Given the description of an element on the screen output the (x, y) to click on. 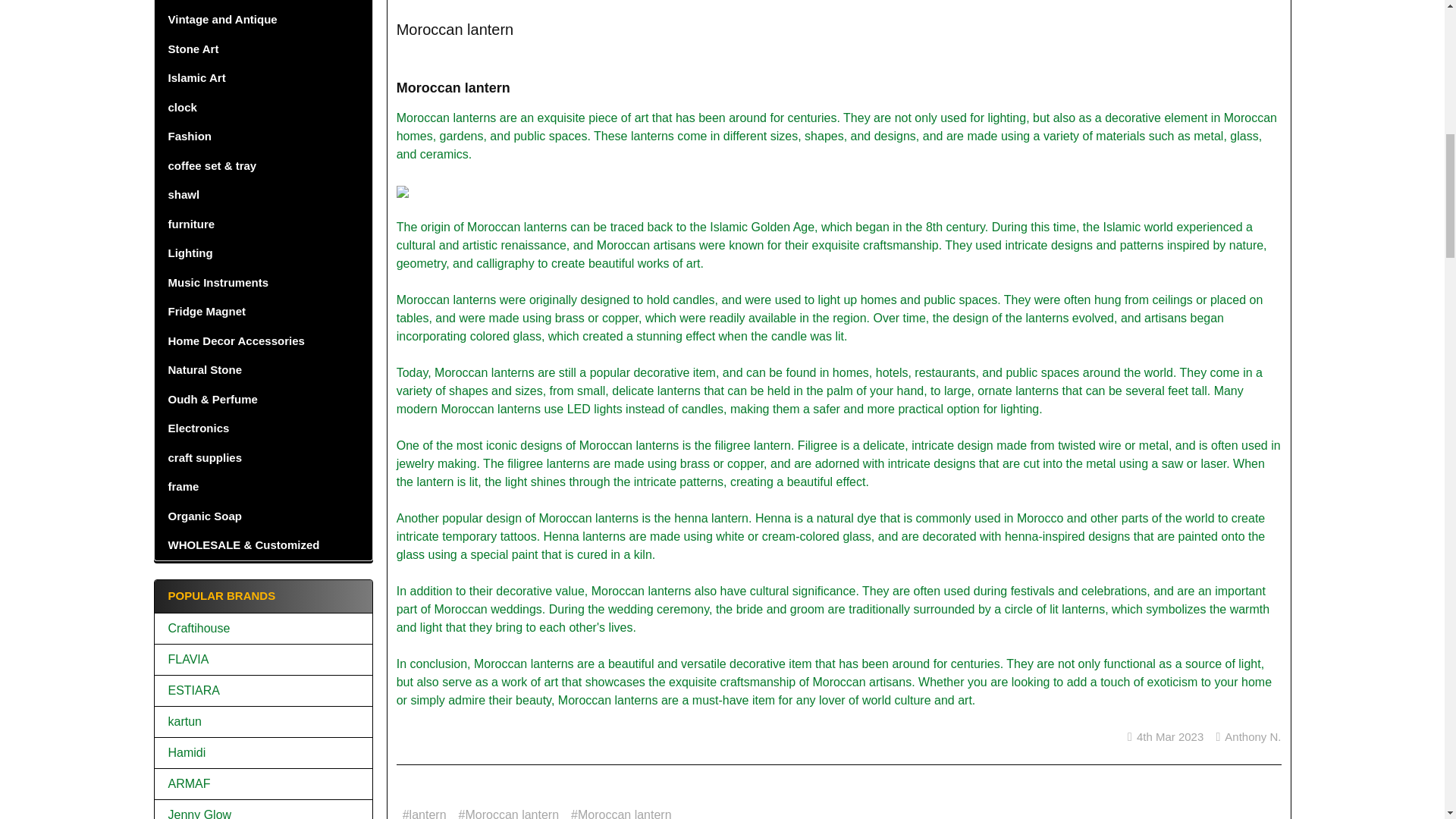
ESTIARA (263, 689)
Craftihouse (263, 628)
Jenny Glow (263, 812)
kartun (263, 721)
Hamidi (263, 751)
FLAVIA (263, 659)
ARMAF (263, 783)
